Given the description of an element on the screen output the (x, y) to click on. 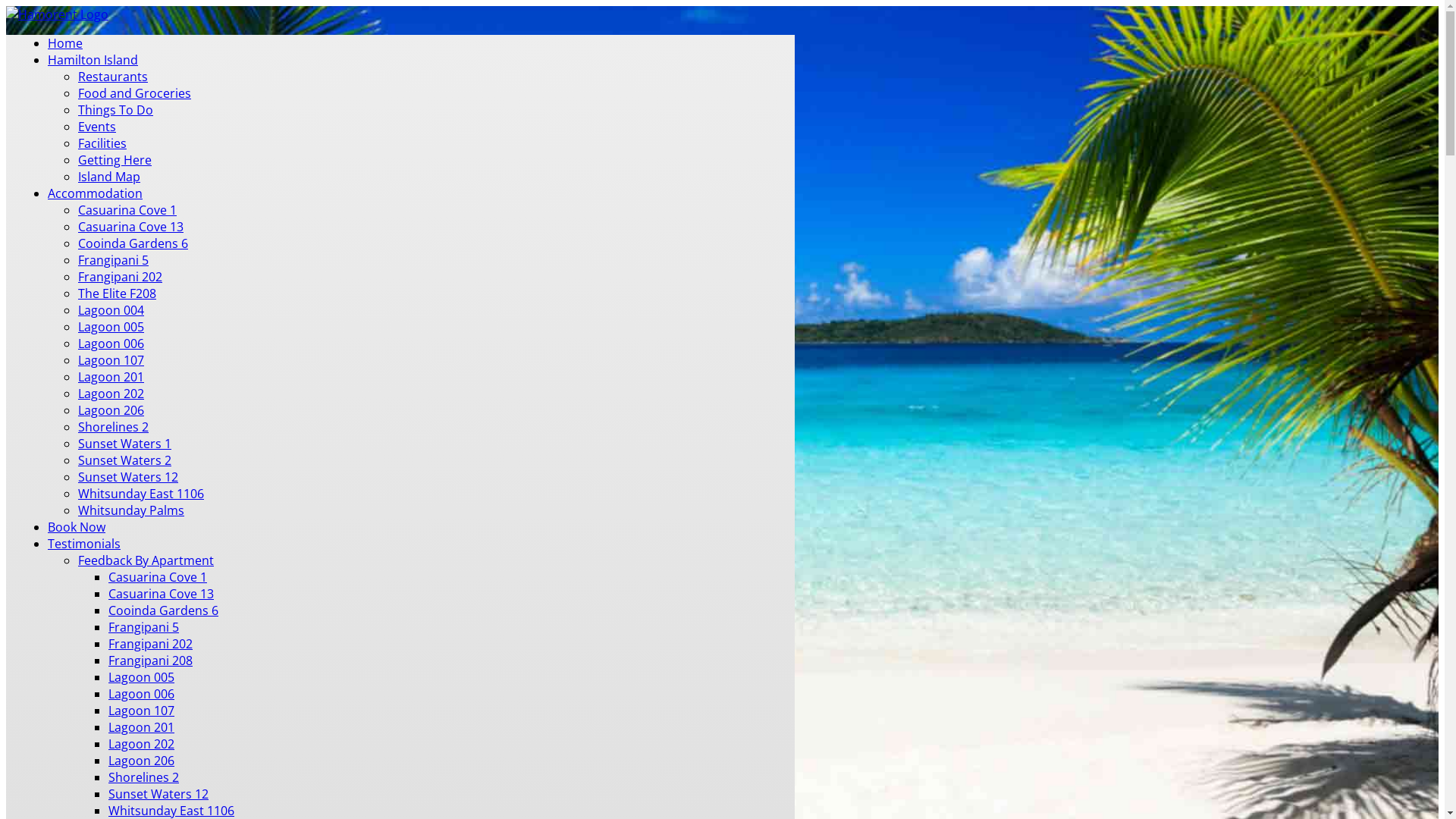
Casuarina Cove 1 Element type: text (157, 576)
Cooinda Gardens 6 Element type: text (133, 243)
Lagoon 202 Element type: text (141, 743)
Feedback By Apartment Element type: text (145, 560)
Events Element type: text (97, 126)
Home Element type: text (64, 42)
Casuarina Cove 13 Element type: text (130, 226)
Lagoon 004 Element type: text (111, 309)
Lagoon 107 Element type: text (111, 359)
Cooinda Gardens 6 Element type: text (163, 610)
Frangipani 5 Element type: text (143, 626)
Sunset Waters 12 Element type: text (158, 793)
Frangipani 202 Element type: text (120, 276)
Lagoon 005 Element type: text (141, 676)
Getting Here Element type: text (114, 159)
Lagoon 006 Element type: text (141, 693)
Restaurants Element type: text (112, 76)
Book Now Element type: text (76, 526)
Sunset Waters 12 Element type: text (128, 476)
The Elite F208 Element type: text (117, 293)
Whitsunday East 1106 Element type: text (140, 493)
Food and Groceries Element type: text (134, 92)
Sunset Waters 1 Element type: text (124, 443)
Hamilton Island Element type: text (92, 59)
Lagoon 005 Element type: text (111, 326)
Frangipani 5 Element type: text (113, 259)
Facilities Element type: text (102, 142)
Whitsunday Palms Element type: text (131, 510)
Lagoon 107 Element type: text (141, 710)
Shorelines 2 Element type: text (143, 776)
Lagoon 206 Element type: text (111, 409)
Casuarina Cove 13 Element type: text (160, 593)
Lagoon 206 Element type: text (141, 760)
Casuarina Cove 1 Element type: text (127, 209)
Lagoon 202 Element type: text (111, 393)
Lagoon 006 Element type: text (111, 343)
Things To Do Element type: text (115, 109)
Testimonials Element type: text (83, 543)
Frangipani 202 Element type: text (150, 643)
Frangipani 208 Element type: text (150, 660)
Lagoon 201 Element type: text (141, 726)
Island Map Element type: text (109, 176)
Lagoon 201 Element type: text (111, 376)
Accommodation Element type: text (94, 193)
Shorelines 2 Element type: text (113, 426)
Sunset Waters 2 Element type: text (124, 459)
